Given the description of an element on the screen output the (x, y) to click on. 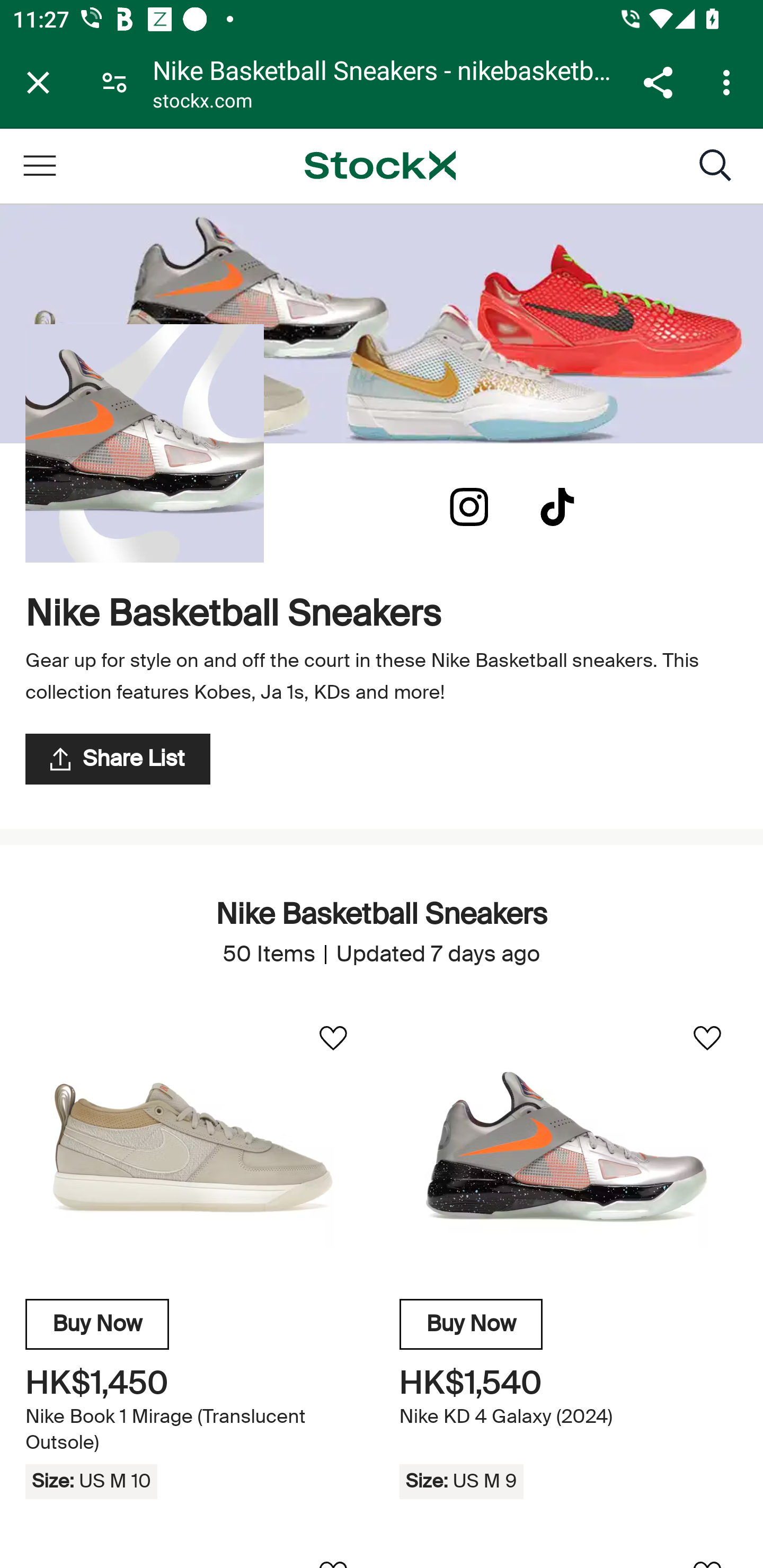
Close tab (38, 82)
Share (657, 82)
Customize and control Google Chrome (729, 82)
Connection is secure (114, 81)
stockx.com (202, 103)
Toggle Navigation (39, 165)
StockX Logo (379, 165)
?hl=en (469, 507)
@stockx (557, 507)
Share List (118, 758)
nike-book-1-light-orewood-brown?size=10 (194, 1147)
nike-kd-4-galaxy-2024?size=9 (568, 1147)
Buy Now (97, 1324)
Buy Now (471, 1324)
